Given the description of an element on the screen output the (x, y) to click on. 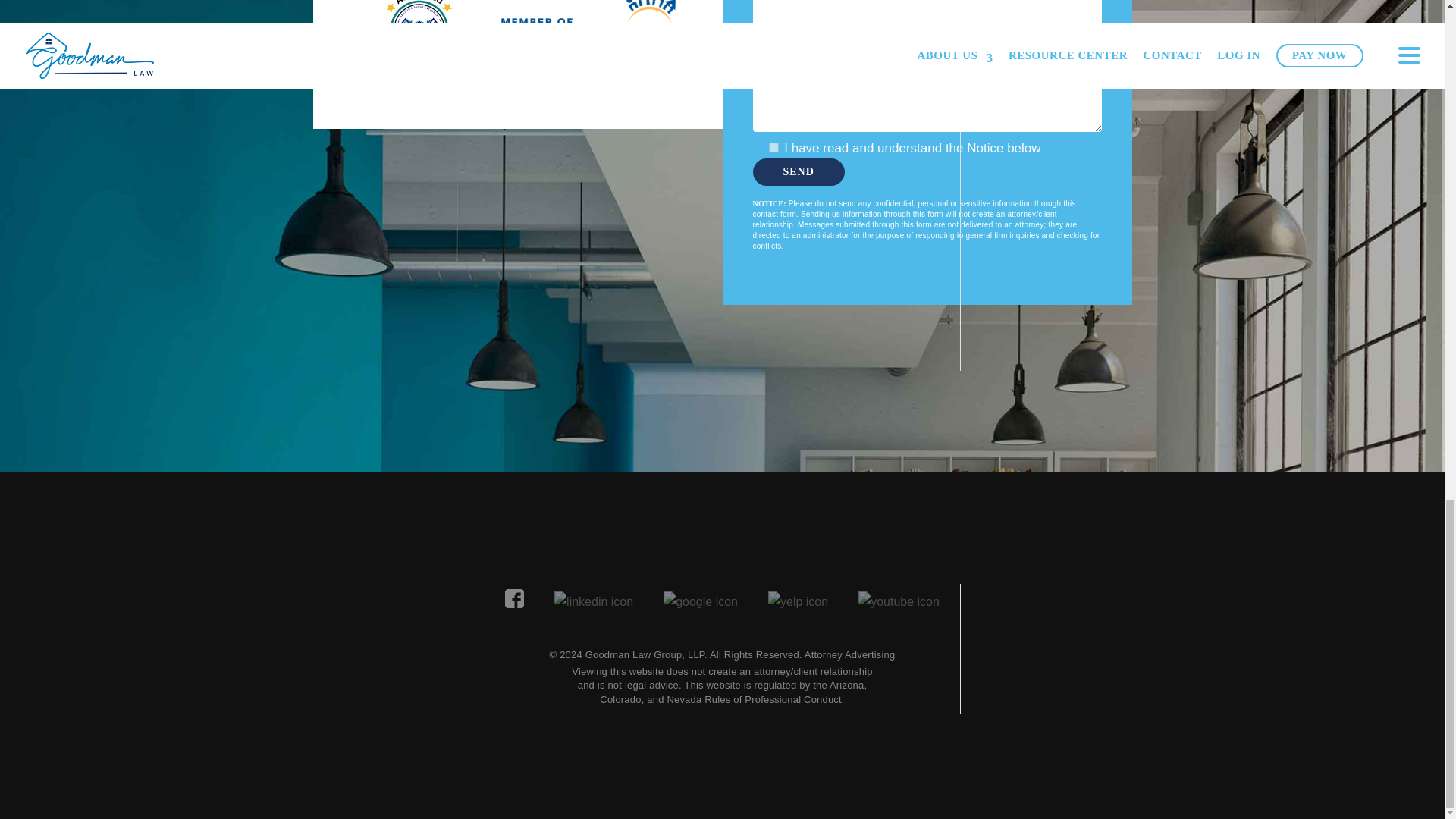
Send (798, 171)
Send (798, 171)
1 (773, 147)
